Given the description of an element on the screen output the (x, y) to click on. 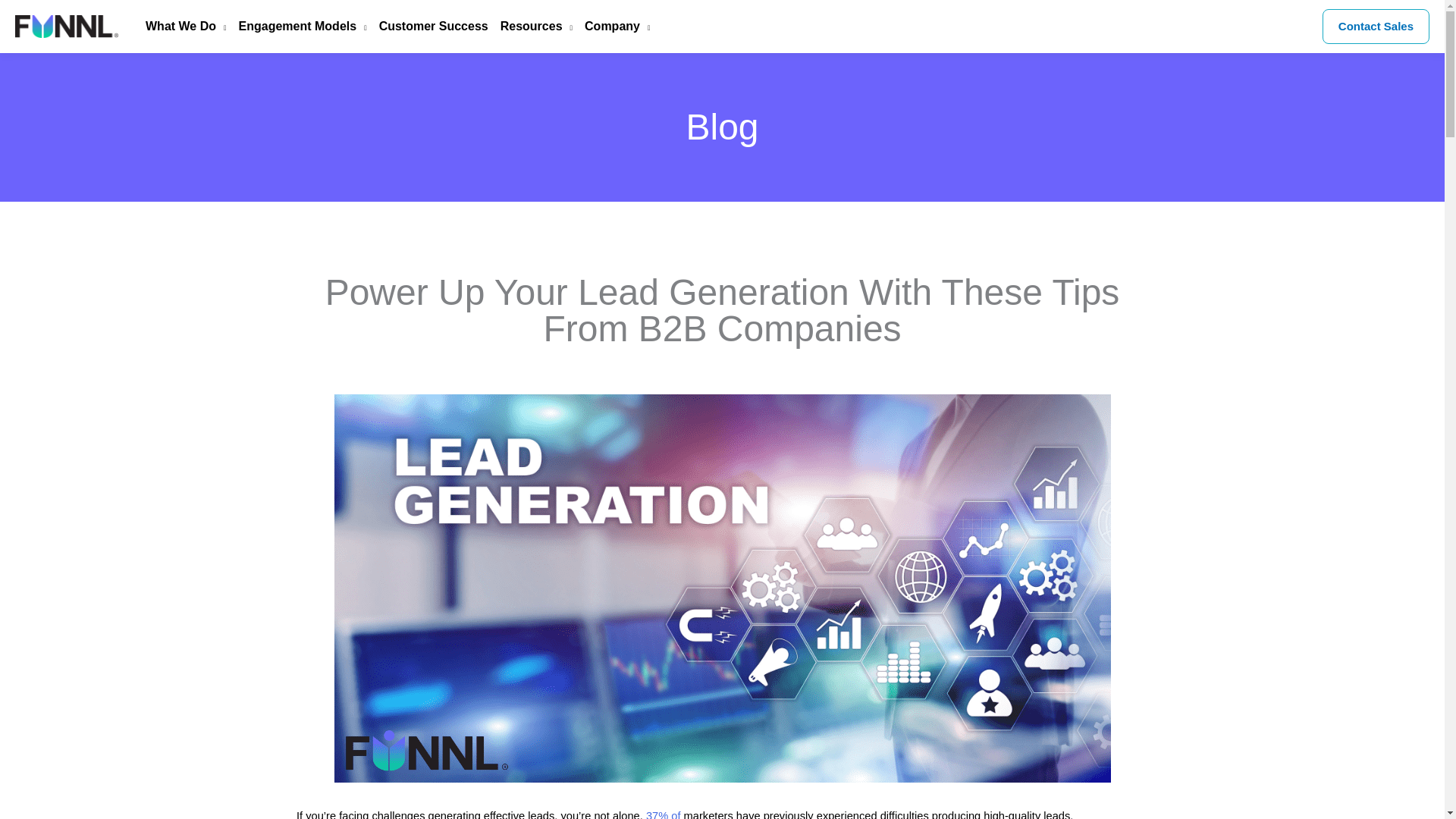
Customer Success (426, 26)
Company (610, 26)
Resources (529, 26)
Contact Sales (1375, 26)
What We Do (180, 26)
Engagement Models (296, 26)
